Given the description of an element on the screen output the (x, y) to click on. 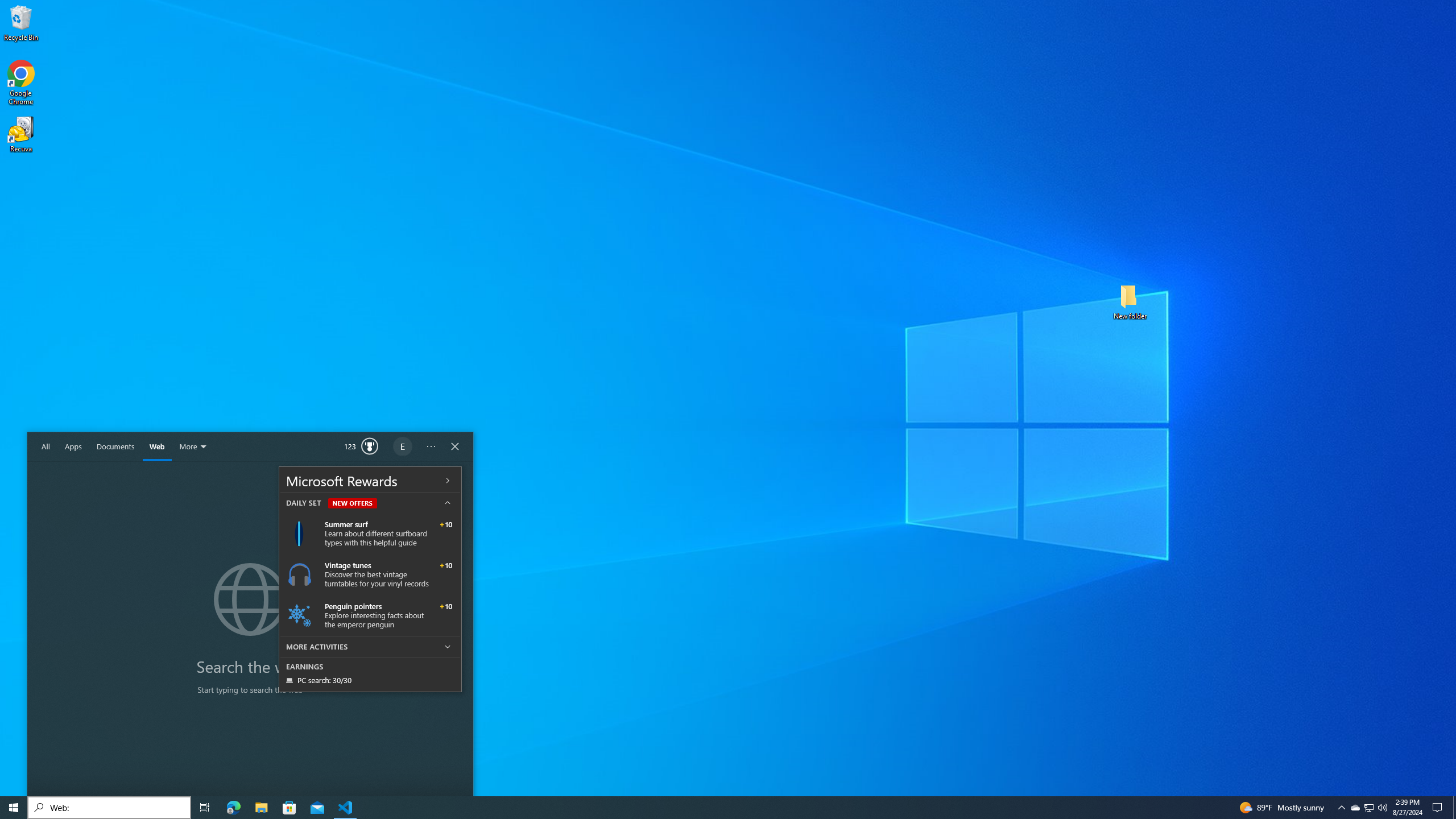
DAILY SET NEW OFFERS (370, 502)
MORE ACTIVITIES (370, 646)
Search box (108, 807)
Microsoft Rewards (369, 480)
Options (430, 447)
Close Windows Search (454, 447)
All (45, 447)
